Given the description of an element on the screen output the (x, y) to click on. 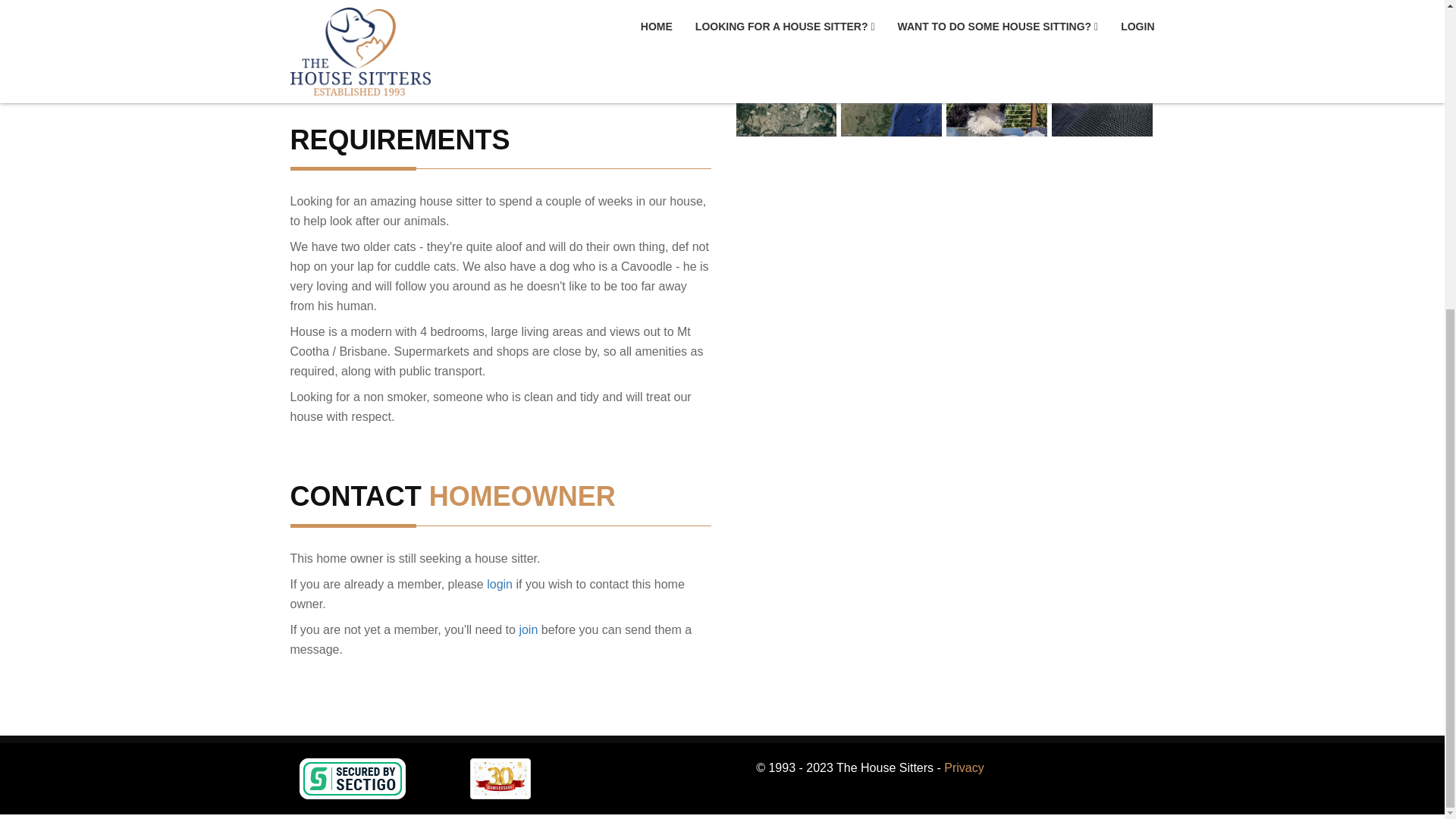
login (499, 584)
join (527, 629)
Privacy (963, 767)
